Given the description of an element on the screen output the (x, y) to click on. 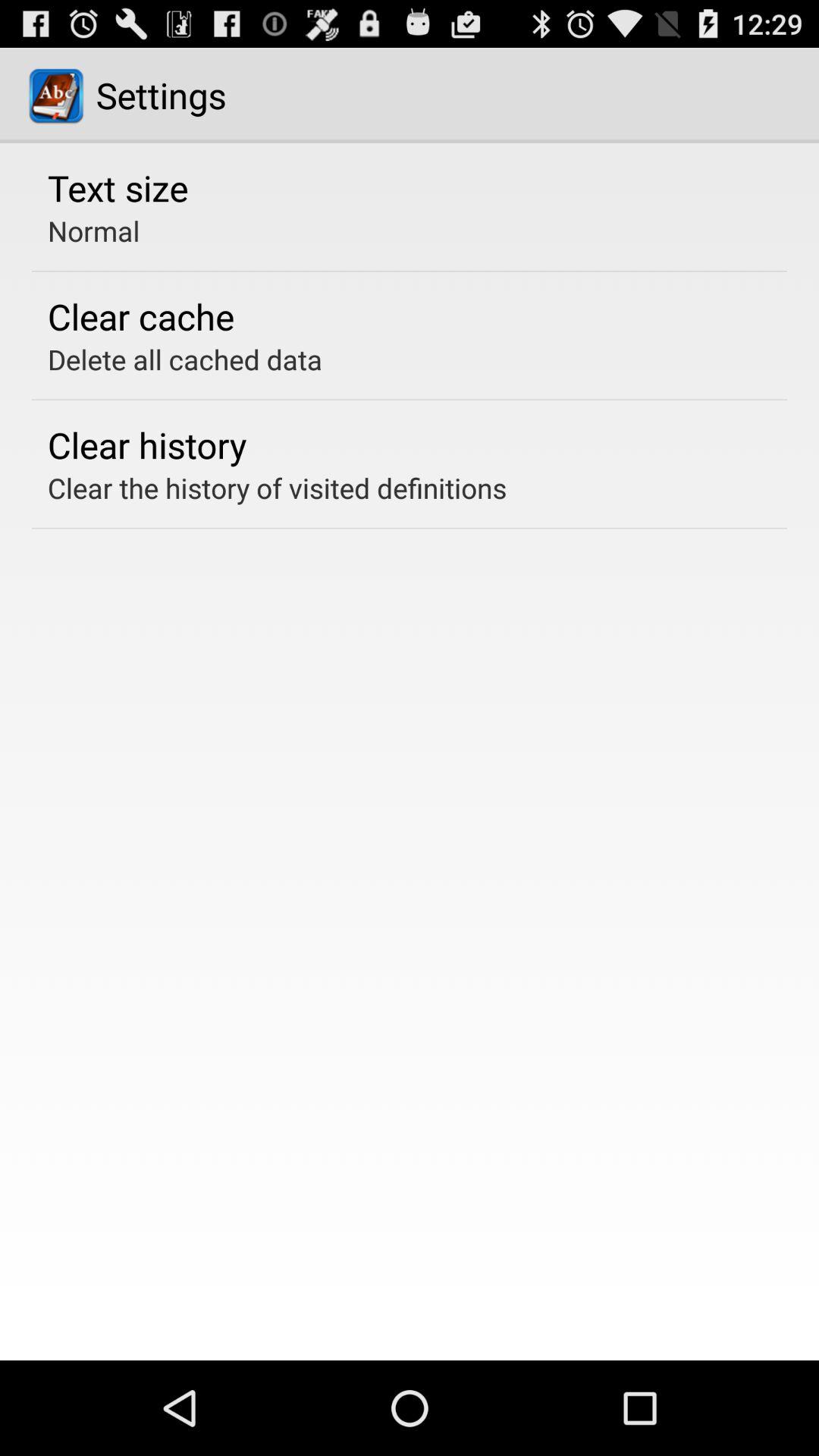
tap icon above the clear cache icon (93, 230)
